Given the description of an element on the screen output the (x, y) to click on. 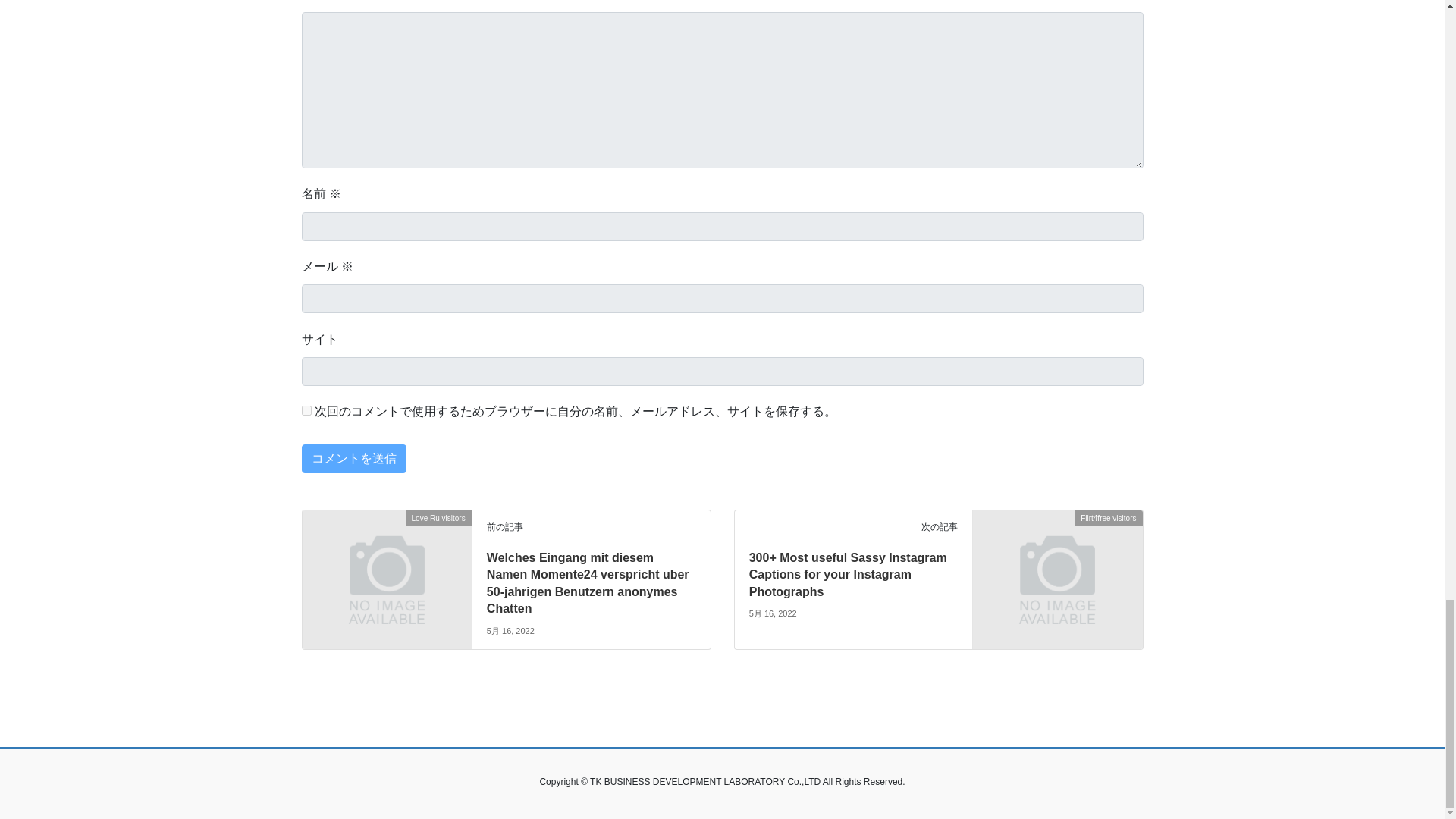
Love Ru visitors (385, 561)
Flirt4free visitors (1056, 561)
yes (306, 410)
